Given the description of an element on the screen output the (x, y) to click on. 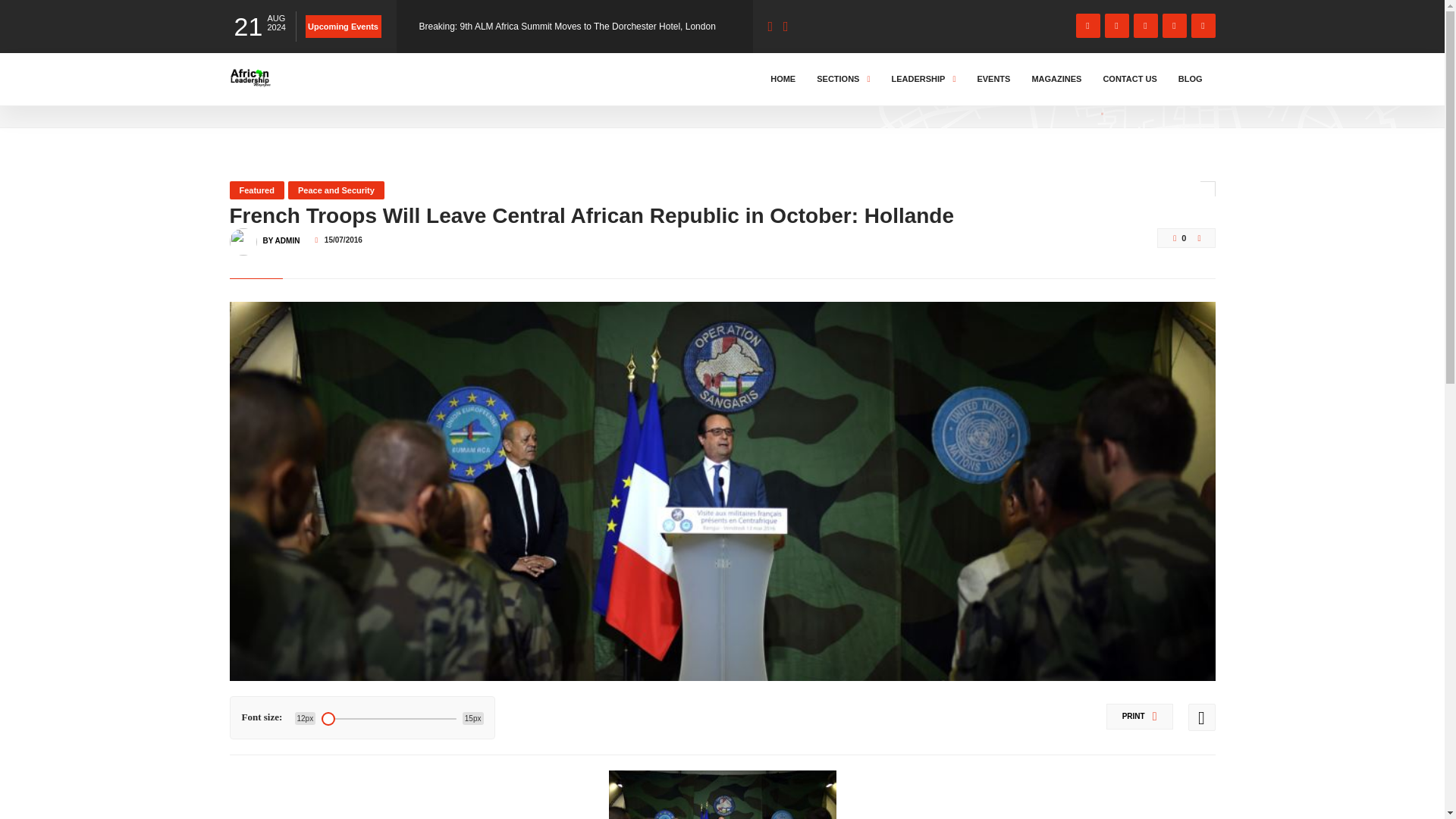
HOME (246, 92)
HOME (782, 79)
LEADERSHIP (922, 79)
BLOG (1190, 79)
Featured (255, 189)
BLOG (293, 92)
CONTACT US (1129, 79)
EVENTS (992, 79)
SECTIONS (842, 79)
